Given the description of an element on the screen output the (x, y) to click on. 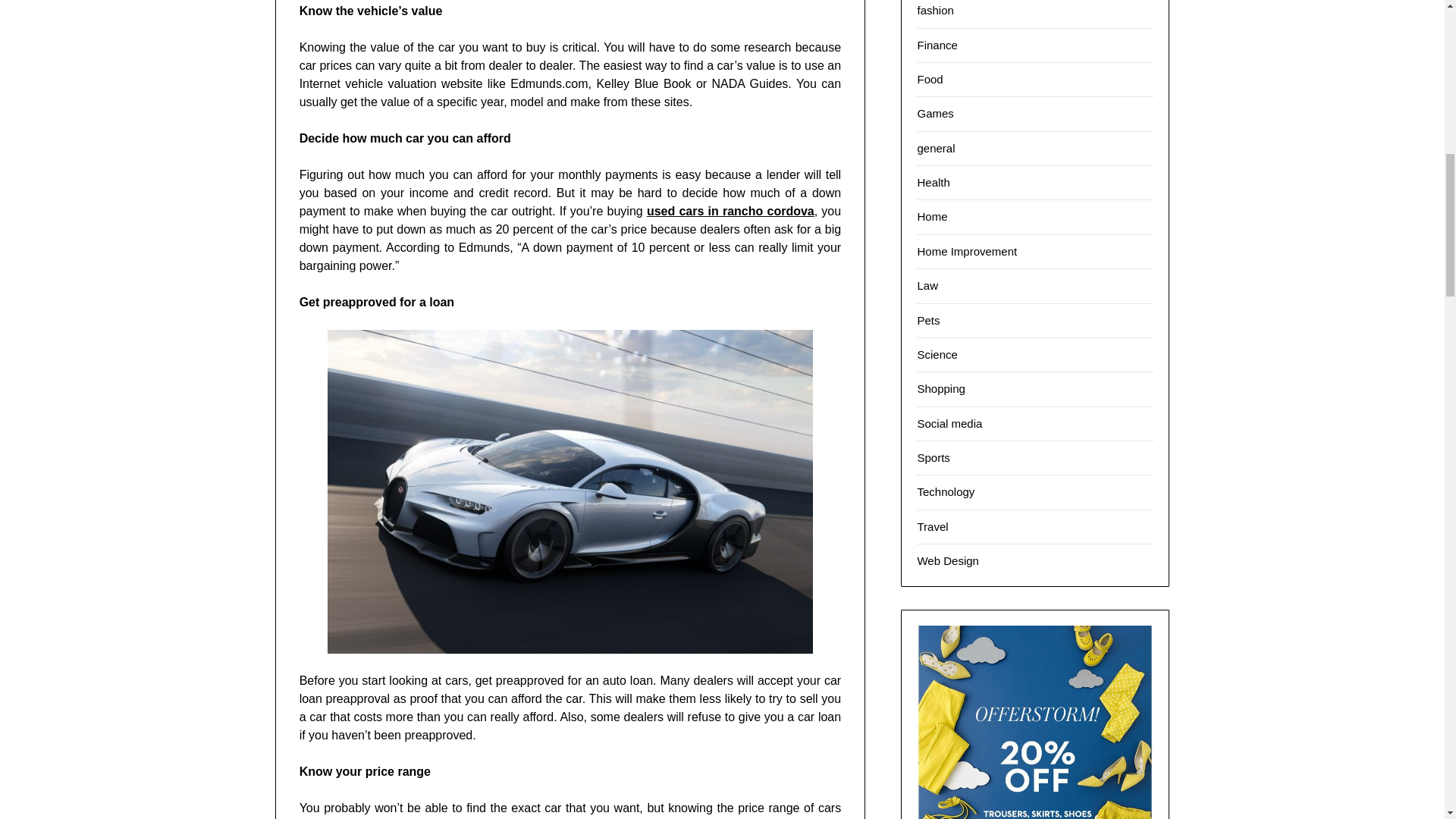
Law (927, 285)
Social media (949, 422)
fashion (935, 10)
Food (929, 78)
Games (935, 113)
Technology (945, 491)
Health (933, 182)
used cars in rancho cordova (729, 210)
Home (932, 215)
Finance (936, 43)
Science (936, 354)
general (936, 147)
Pets (928, 319)
Sports (933, 457)
Home Improvement (966, 250)
